Given the description of an element on the screen output the (x, y) to click on. 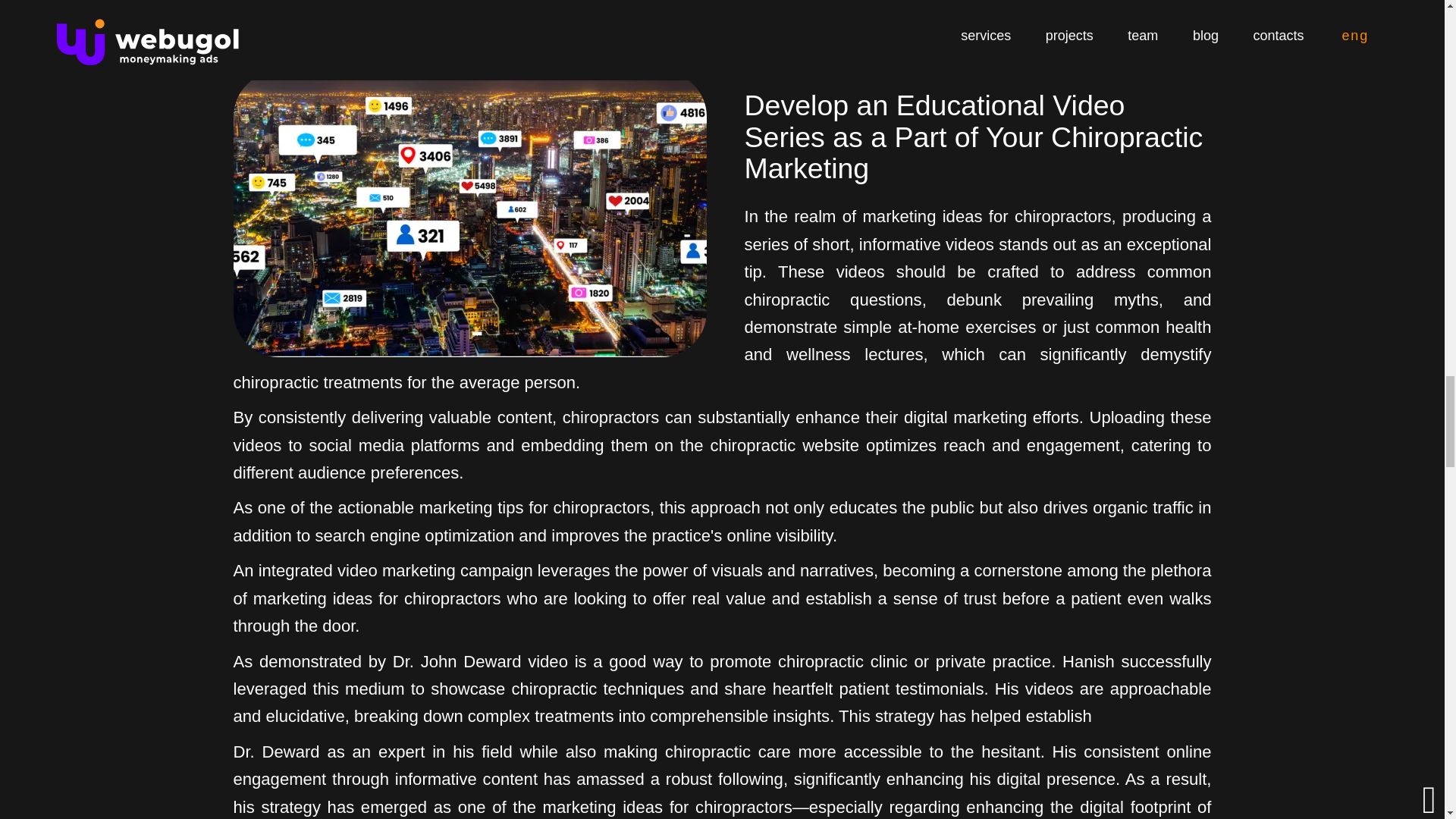
here (984, 2)
